Given the description of an element on the screen output the (x, y) to click on. 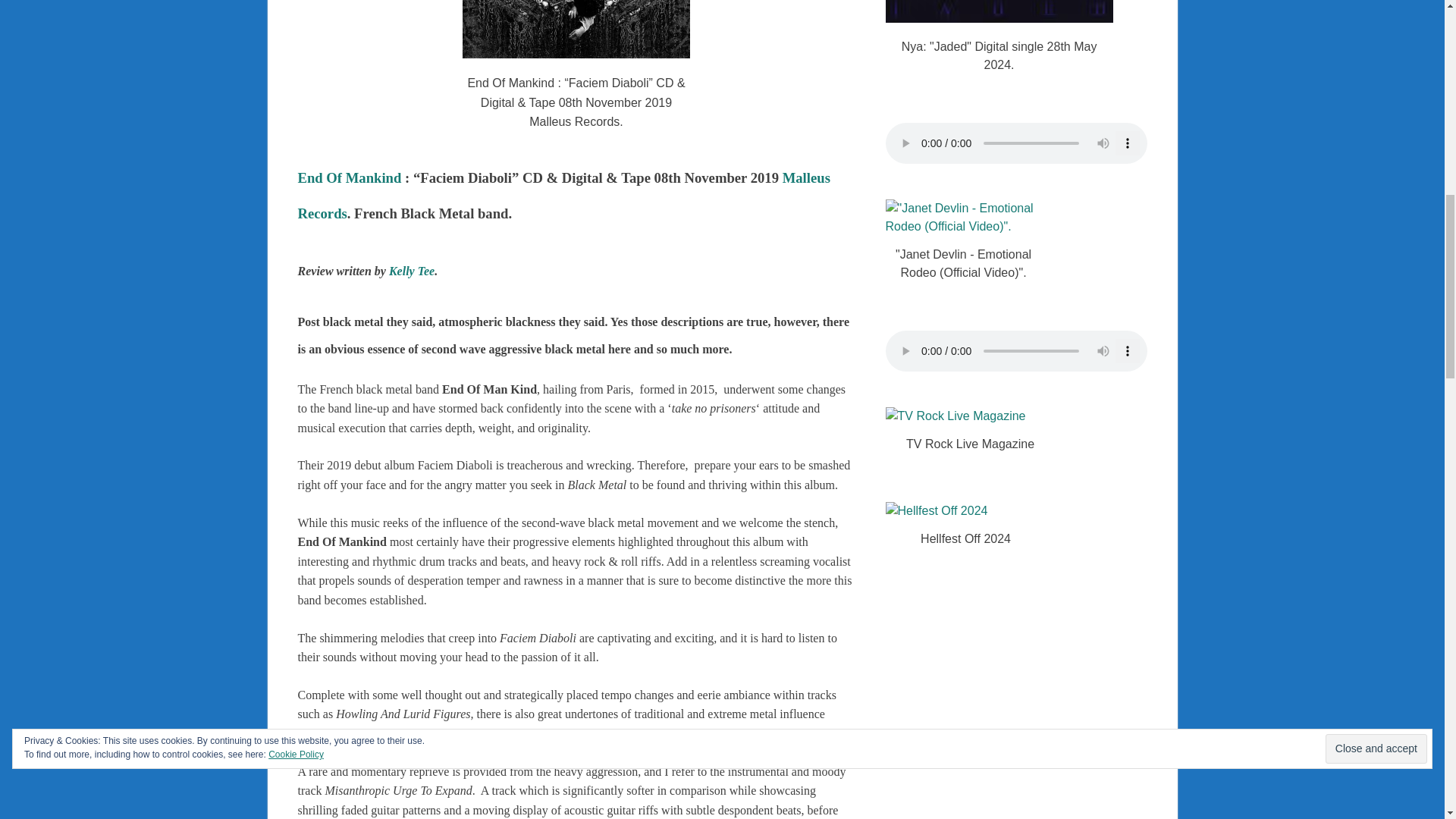
Malleus Records (563, 195)
Kelly Tee (410, 270)
End Of Mankind (349, 177)
